Given the description of an element on the screen output the (x, y) to click on. 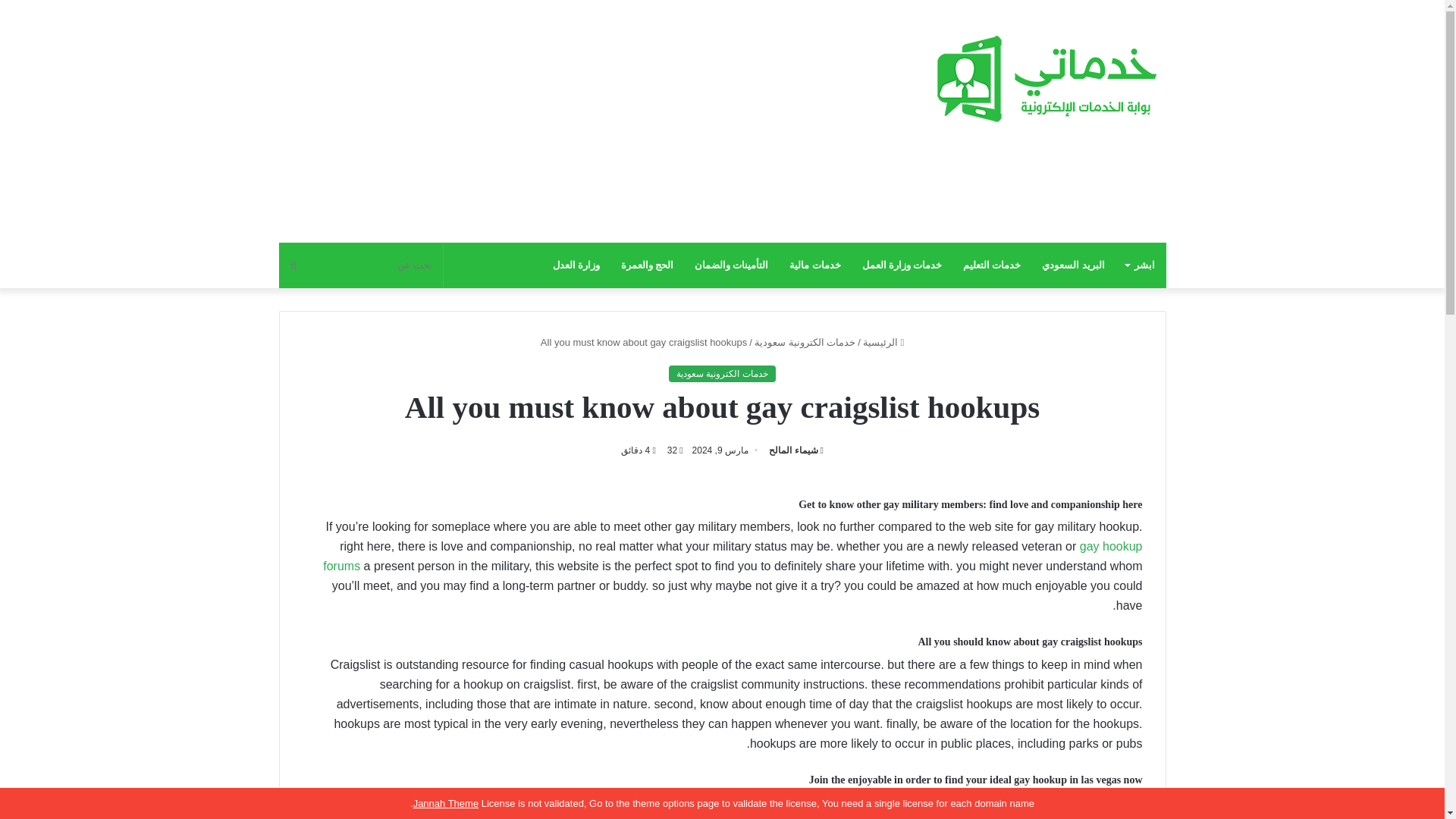
Jannah Theme (446, 803)
gay hookup forums (732, 555)
